Given the description of an element on the screen output the (x, y) to click on. 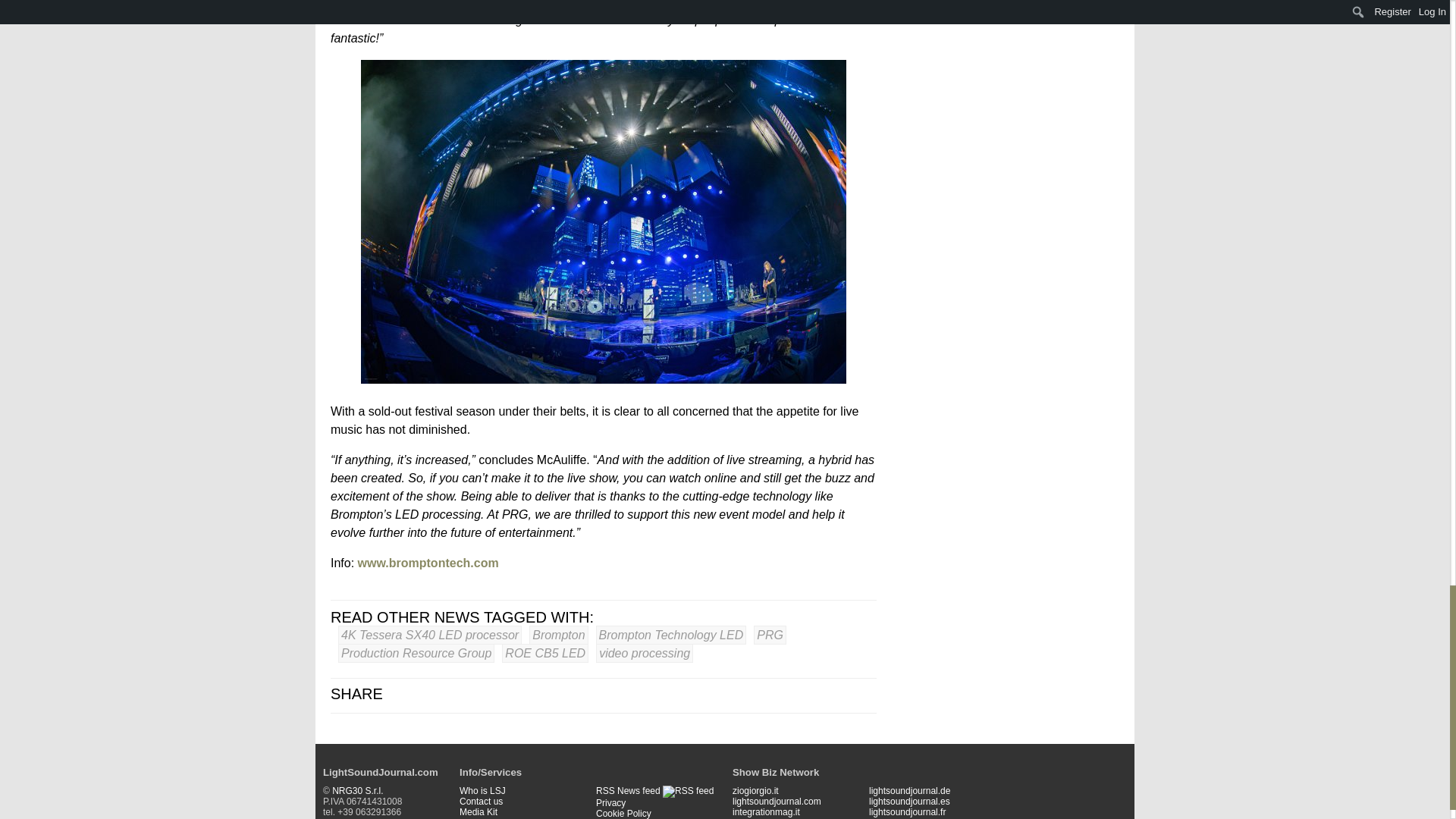
Who is LSJ (482, 790)
www.bromptontech.com (428, 562)
Media Kit (478, 811)
NRG30 S.r.l. (356, 790)
4K Tessera SX40 LED processor (429, 634)
Brompton (558, 634)
PRG (770, 634)
Production Resource Group (416, 652)
ROE CB5 LED (545, 652)
Contact us (481, 801)
